Given the description of an element on the screen output the (x, y) to click on. 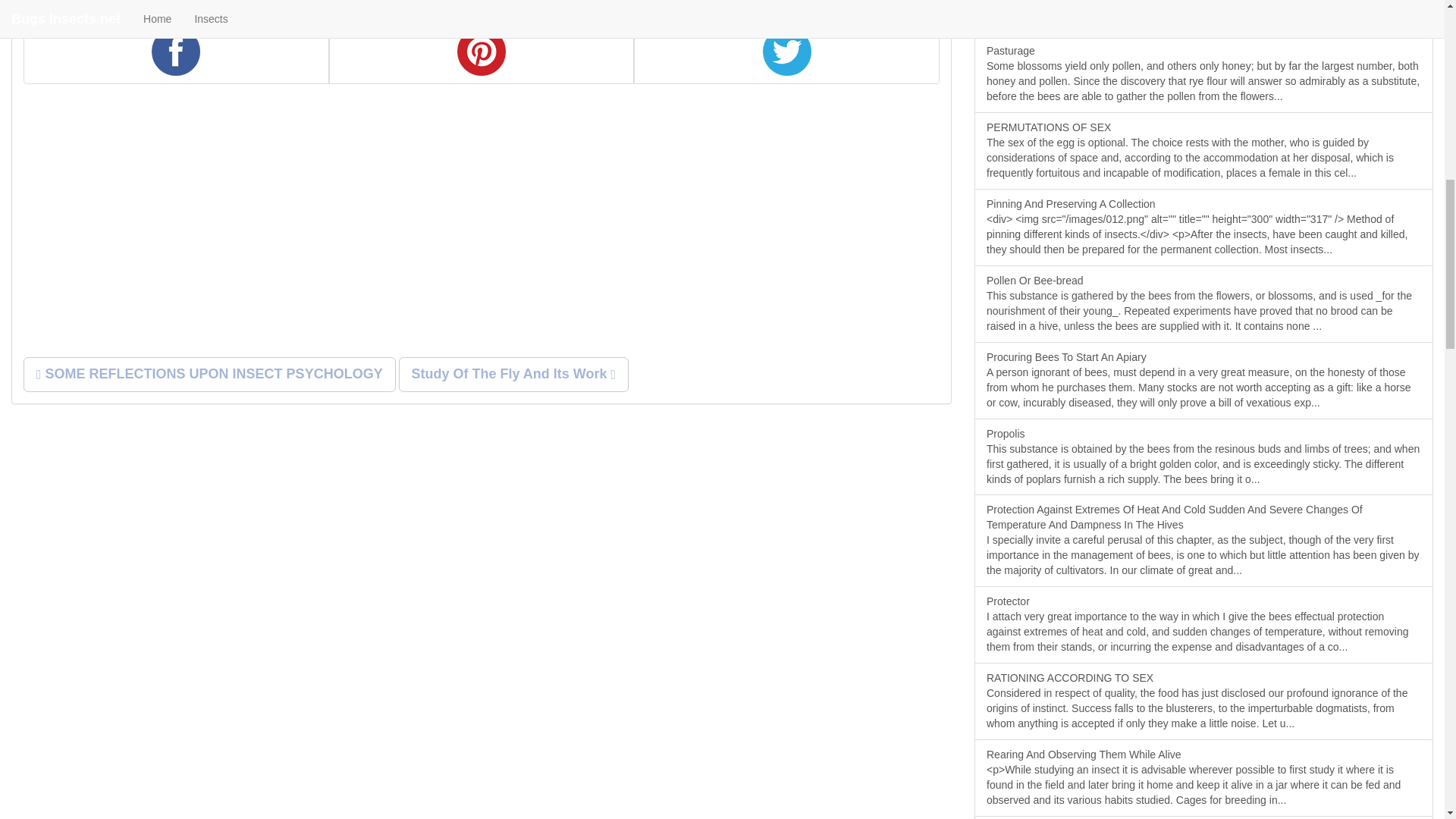
Study Of The Fly And Its Work (513, 374)
SOME REFLECTIONS UPON INSECT PSYCHOLOGY (209, 374)
